Given the description of an element on the screen output the (x, y) to click on. 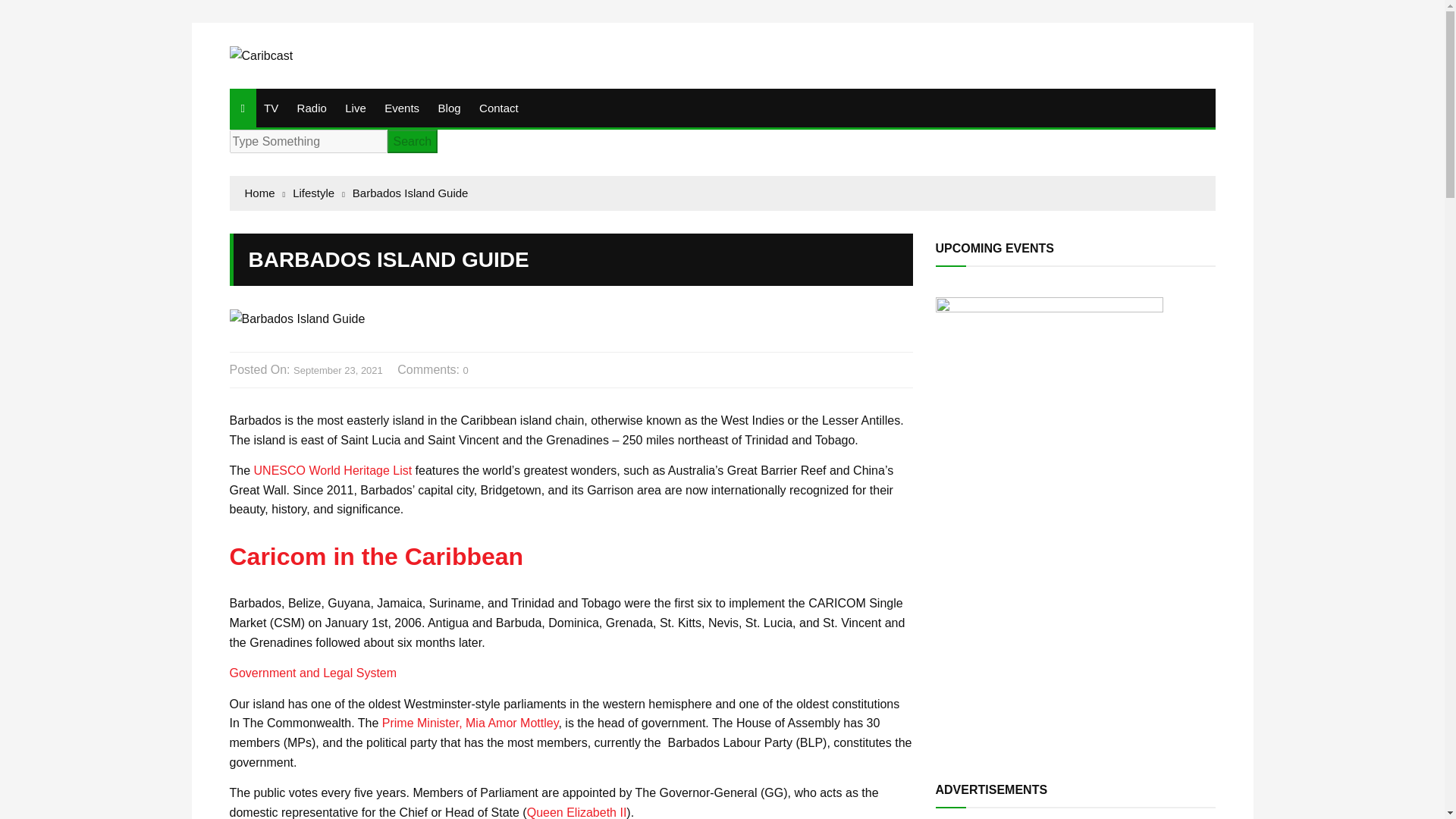
Radio (311, 107)
Blog (449, 107)
September 23, 2021 (338, 371)
UNESCO World Heritage List (332, 470)
Caricom in the Caribbean (375, 556)
Search (412, 141)
Home (264, 193)
Government and Legal System (312, 672)
Contact (498, 107)
Lifestyle (318, 193)
